Given the description of an element on the screen output the (x, y) to click on. 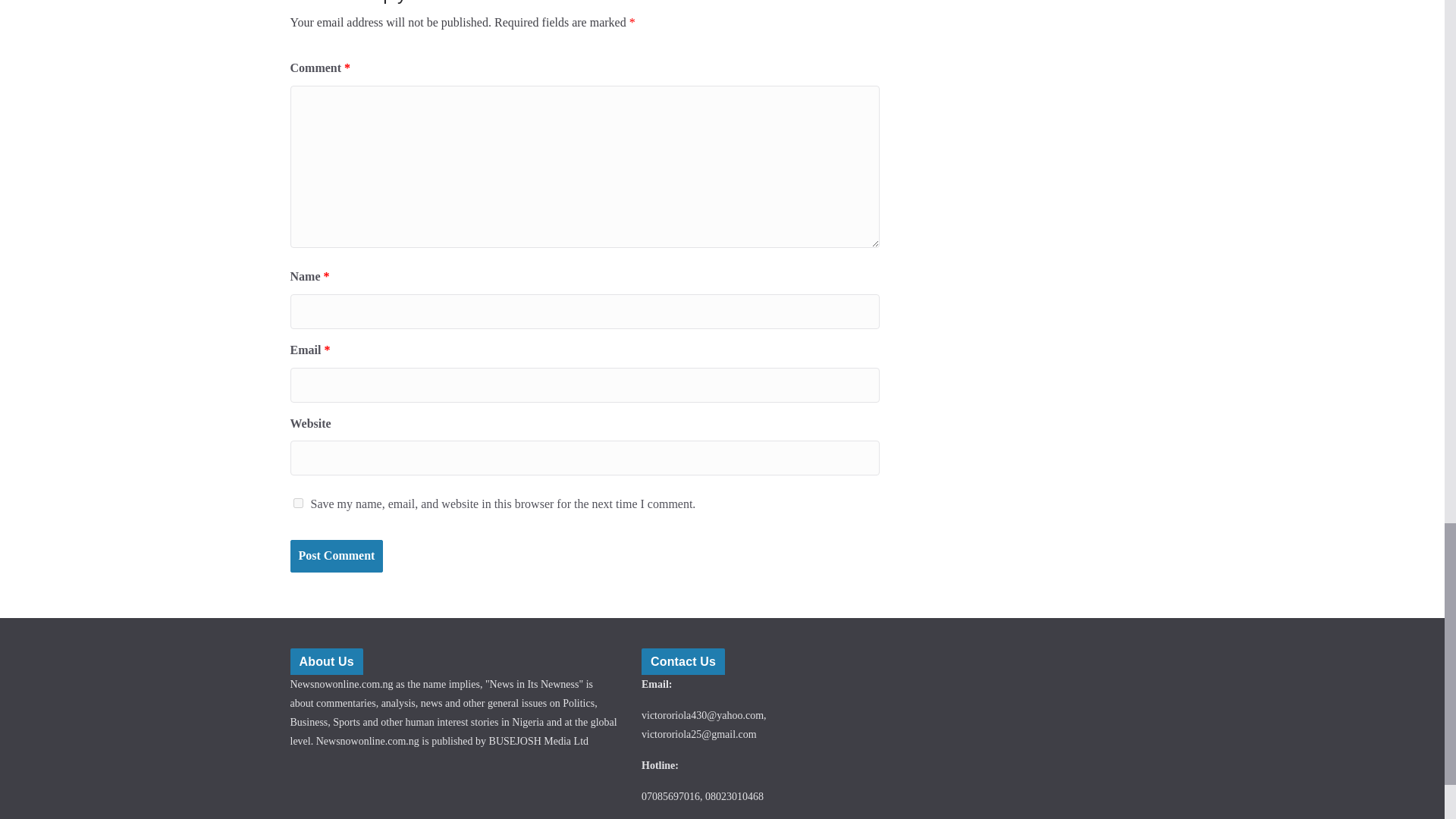
yes (297, 502)
Post Comment (335, 555)
